Given the description of an element on the screen output the (x, y) to click on. 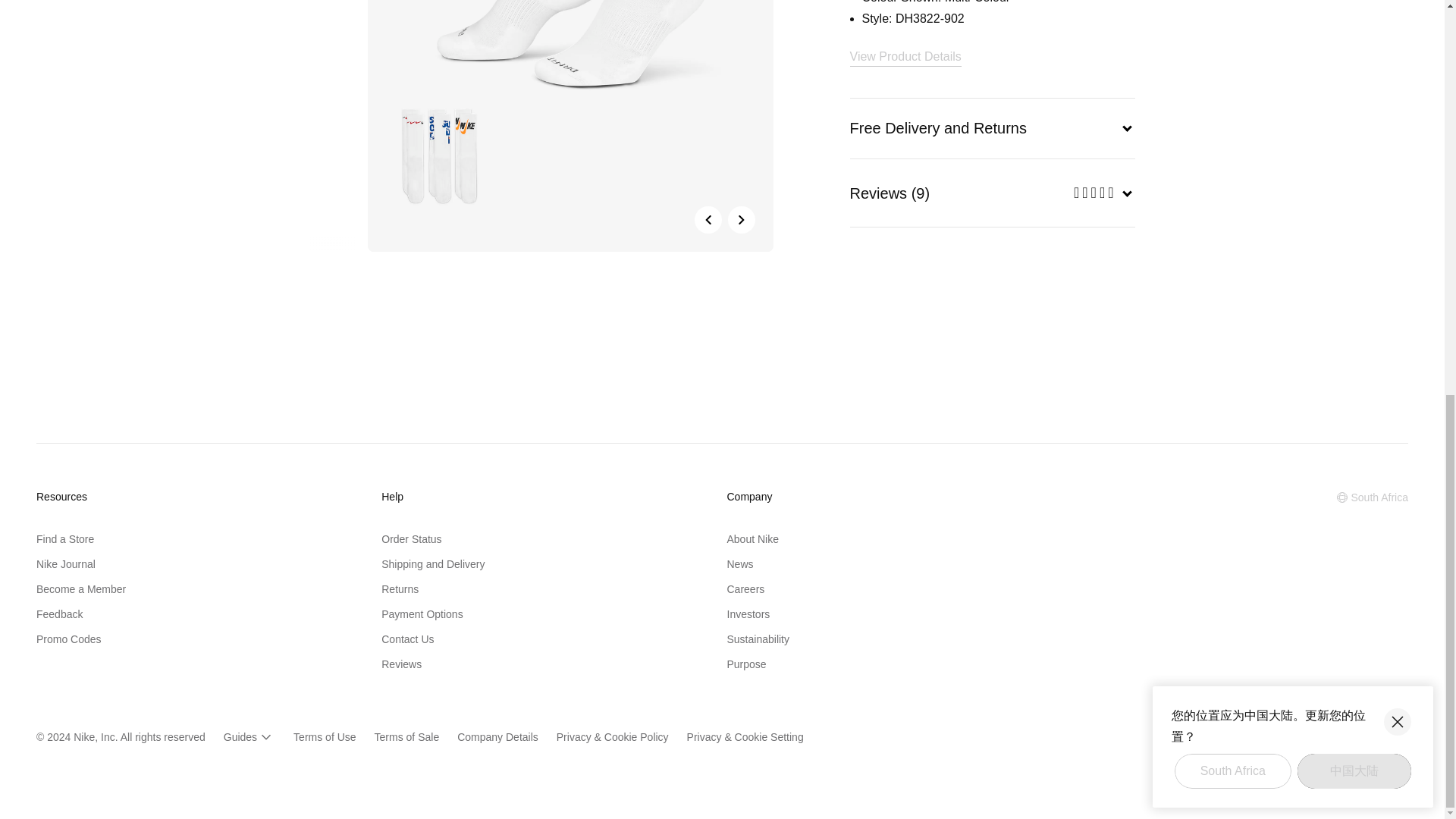
Selected Location: South Africa (1372, 497)
